Given the description of an element on the screen output the (x, y) to click on. 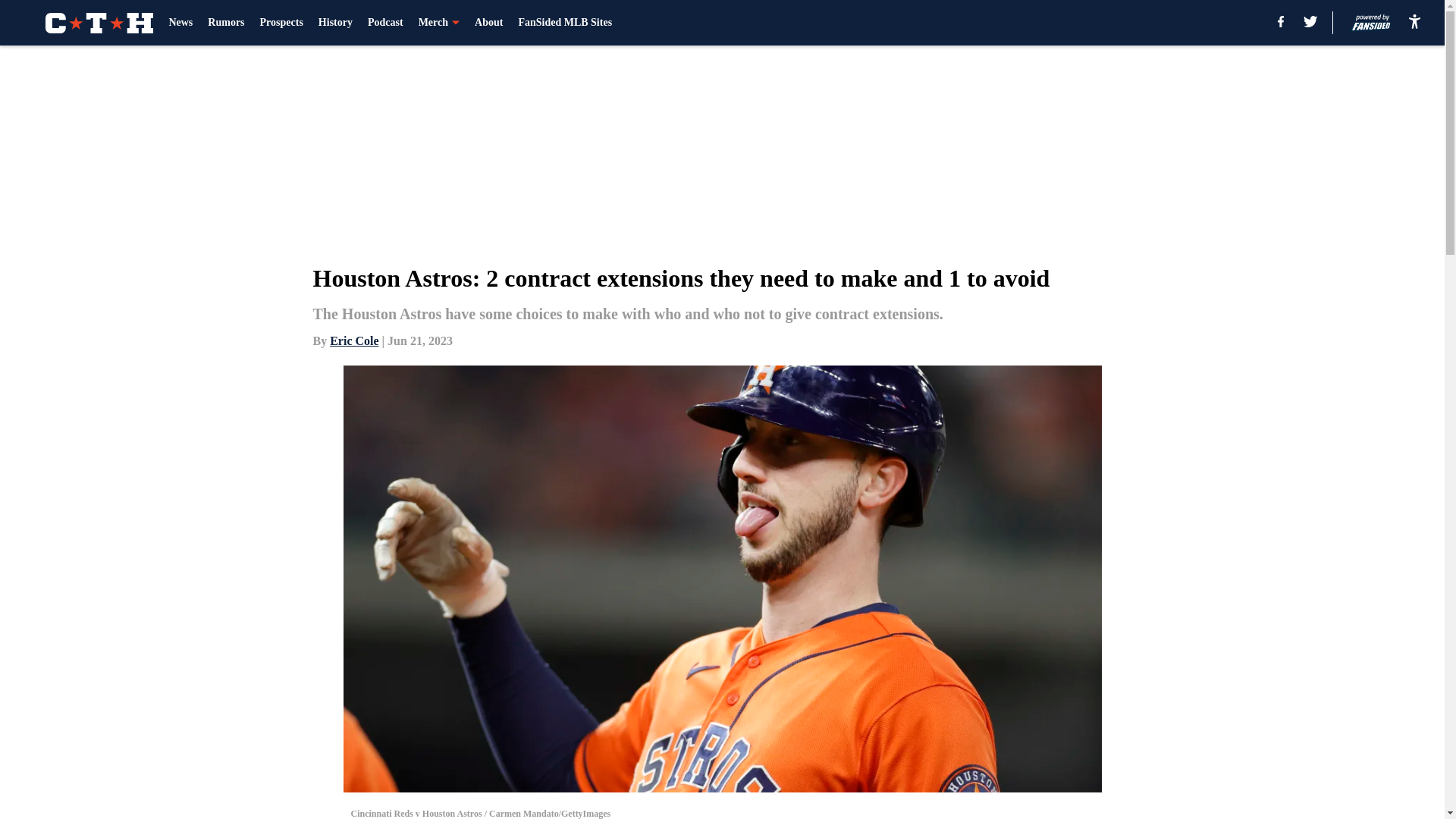
Rumors (226, 22)
FanSided MLB Sites (564, 22)
Eric Cole (354, 340)
Podcast (385, 22)
About (488, 22)
History (335, 22)
News (180, 22)
Prospects (281, 22)
